Given the description of an element on the screen output the (x, y) to click on. 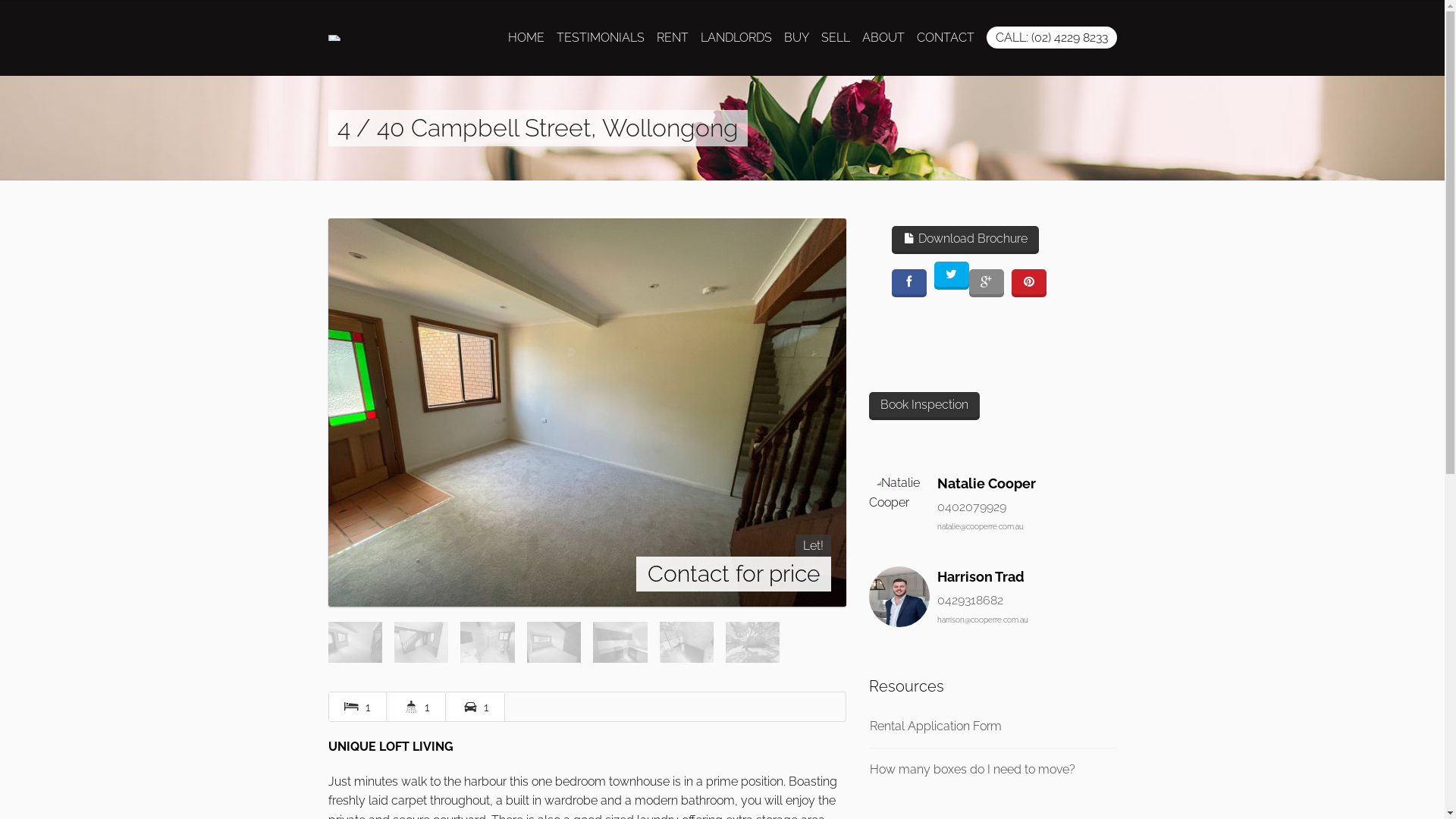
TESTIMONIALS Element type: text (600, 37)
natalie@cooperre.com.au Element type: text (980, 526)
ABOUT Element type: text (882, 37)
CONTACT Element type: text (944, 37)
How many boxes do I need to move? Element type: text (972, 769)
SELL Element type: text (834, 37)
CALL: (02) 4229 8233 Element type: text (1050, 37)
Let! Element type: text (813, 545)
harrison@cooperre.com.au Element type: text (982, 619)
LANDLORDS Element type: text (735, 37)
Rental Application Form Element type: text (935, 725)
HOME Element type: text (526, 37)
BUY Element type: text (796, 37)
Book Inspection Element type: text (924, 406)
0402079929 Element type: text (971, 506)
4 / 40 Campbell Street, Wollongong Element type: hover (586, 411)
0429318682 Element type: text (970, 600)
Download Brochure Element type: text (964, 239)
RENT Element type: text (672, 37)
